Given the description of an element on the screen output the (x, y) to click on. 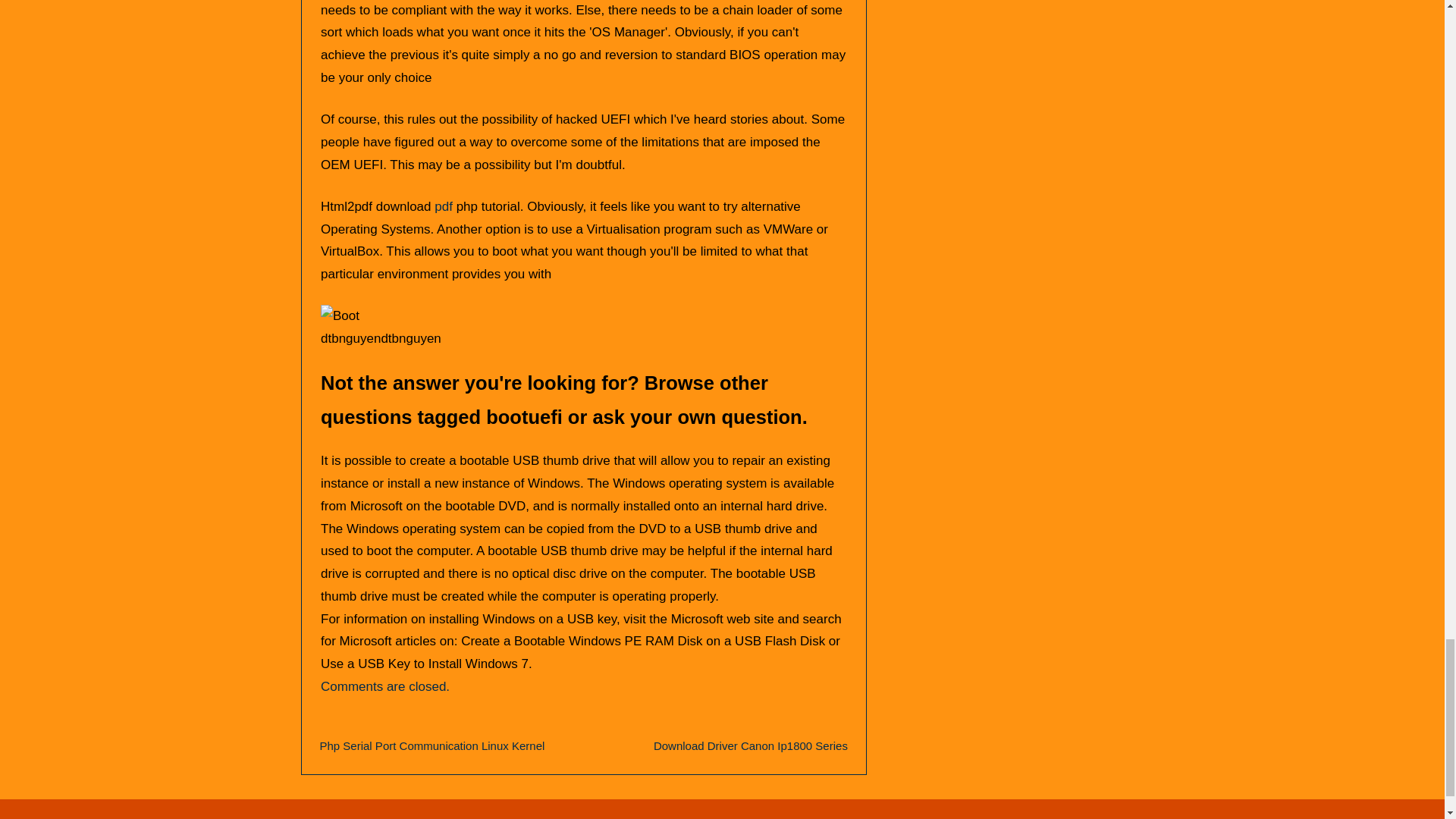
Download Driver Canon Ip1800 Series (750, 745)
pdf (442, 206)
Comments are closed. (384, 686)
Php Serial Port Communication Linux Kernel (432, 745)
Boot (339, 315)
